Given the description of an element on the screen output the (x, y) to click on. 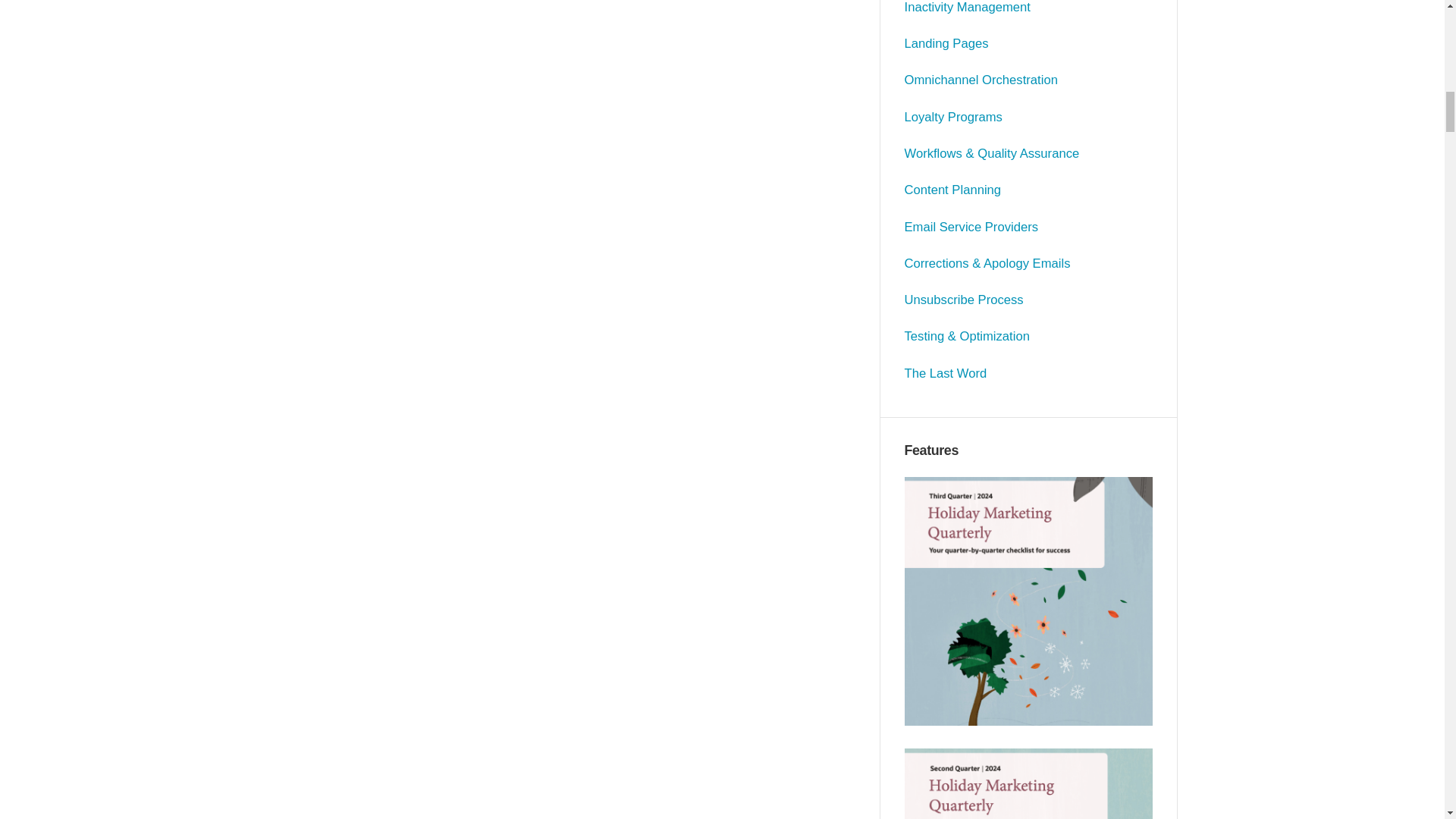
Omnichannel Orchestration (981, 79)
Loyalty Programs (953, 116)
Inactivity Management (967, 7)
Landing Pages (946, 43)
